Given the description of an element on the screen output the (x, y) to click on. 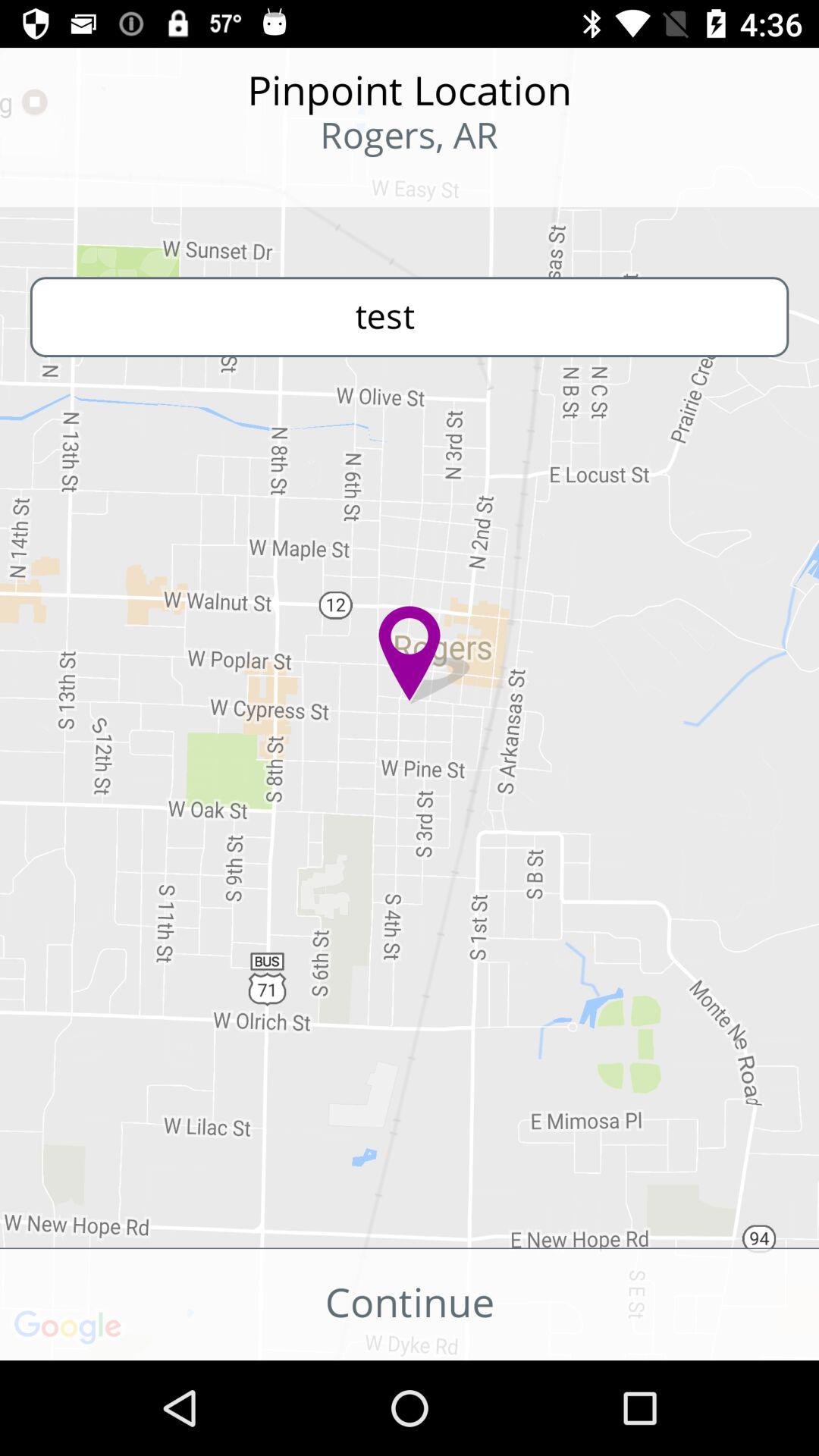
launch continue (409, 1304)
